Given the description of an element on the screen output the (x, y) to click on. 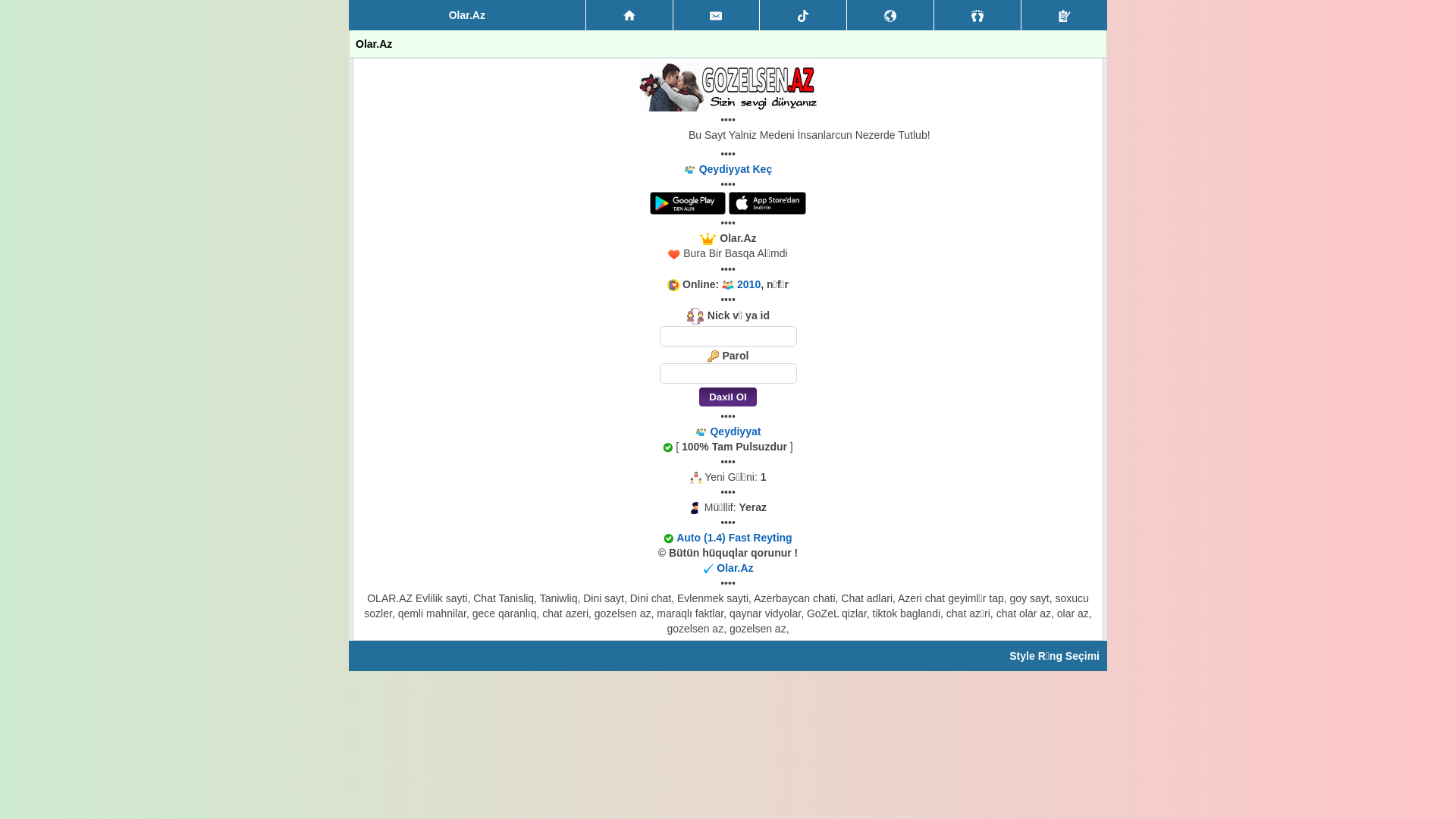
Parol Element type: hover (728, 373)
Mesajlar Element type: hover (716, 15)
2010 Element type: text (748, 284)
Auto (1.4) Fast Reyting Element type: text (733, 537)
Daxil Ol Element type: text (727, 396)
Tiktok Element type: hover (802, 15)
Bildirisler Element type: hover (890, 15)
Olar.Az Element type: text (734, 567)
nick Element type: hover (728, 336)
Qeydiyyat Element type: text (734, 431)
Qeydiyyat Element type: hover (1064, 15)
Qonaqlar Element type: hover (977, 15)
